Given the description of an element on the screen output the (x, y) to click on. 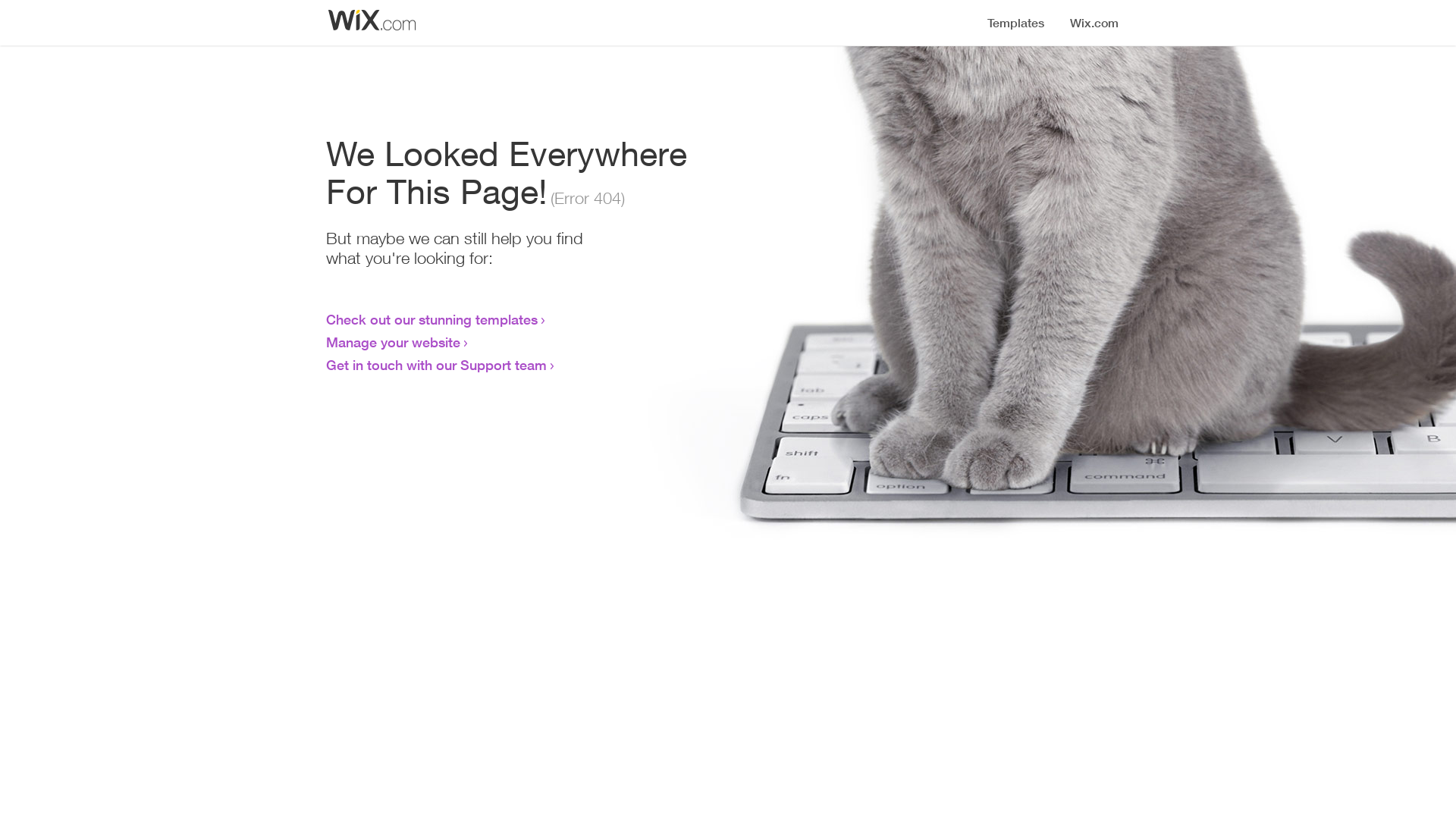
Manage your website Element type: text (393, 341)
Check out our stunning templates Element type: text (431, 318)
Get in touch with our Support team Element type: text (436, 364)
